Given the description of an element on the screen output the (x, y) to click on. 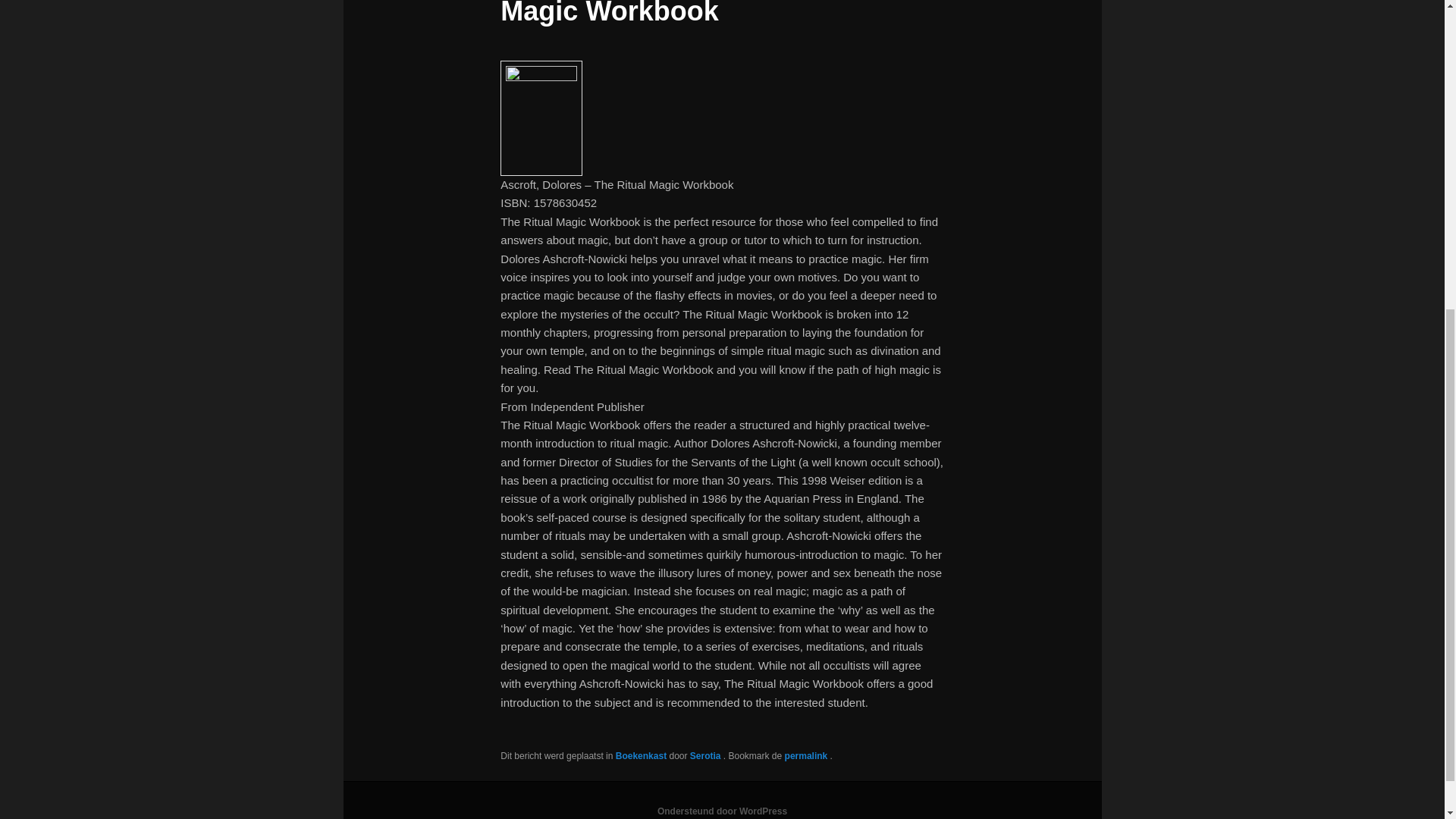
Serotia (706, 756)
permalink (806, 756)
Ondersteund door WordPress (722, 810)
'Semantic Personal Publishing Platform' (722, 810)
Boekenkast (640, 756)
